Given the description of an element on the screen output the (x, y) to click on. 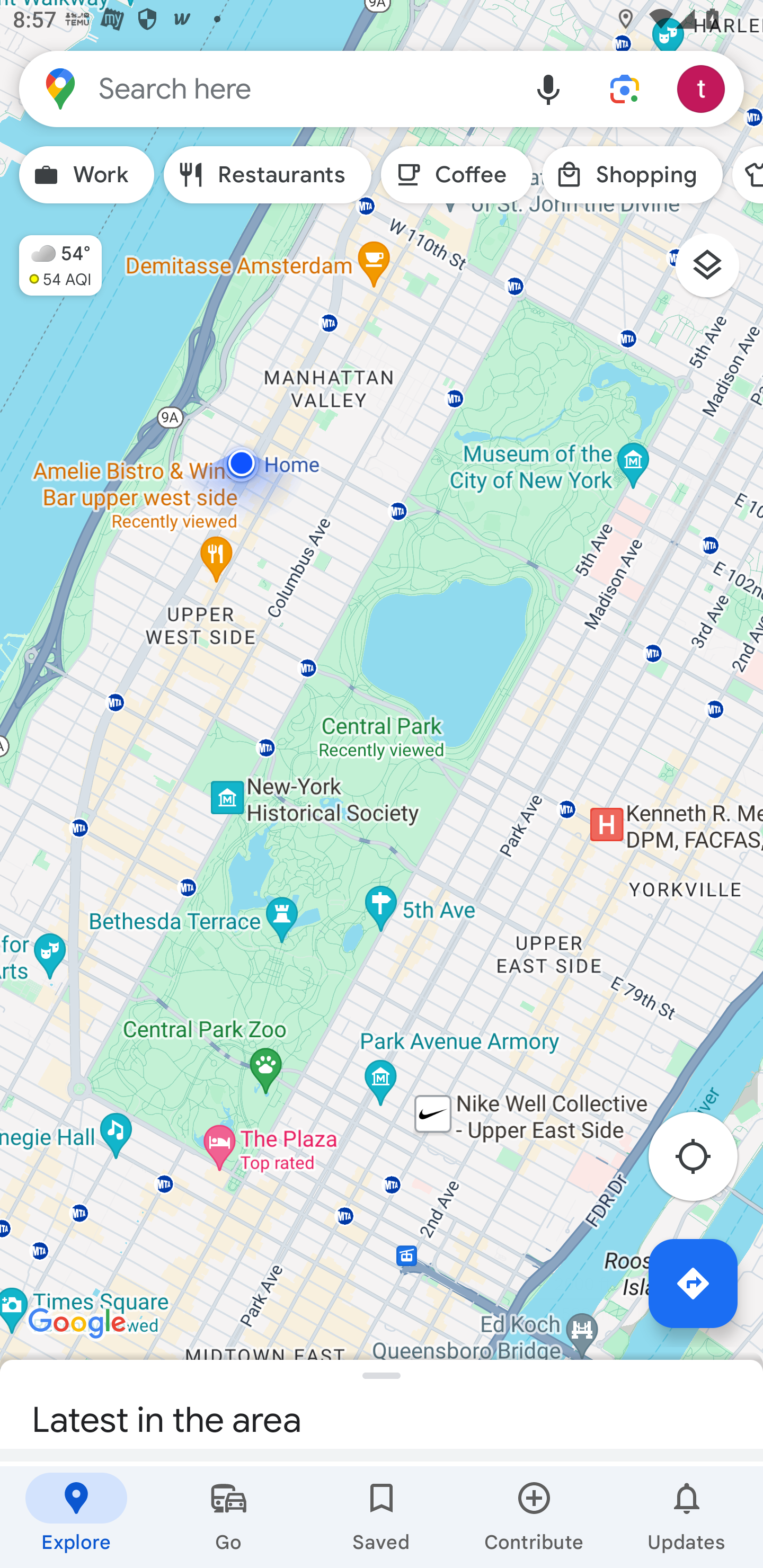
Search here (264, 88)
Voice search (548, 88)
Lens in Maps (624, 88)
Work (86, 174)
Restaurants Search for Restaurants (267, 174)
Coffee Search for Coffee (456, 174)
Shopping Search for Shopping (631, 174)
Cloudy, 54°, Moderate, 54 AQI 54° 54 AQI (50, 257)
Layers (716, 271)
Re-center map to your location (702, 1161)
Directions (692, 1283)
Go (228, 1517)
Saved (381, 1517)
Contribute (533, 1517)
Updates (686, 1517)
